Given the description of an element on the screen output the (x, y) to click on. 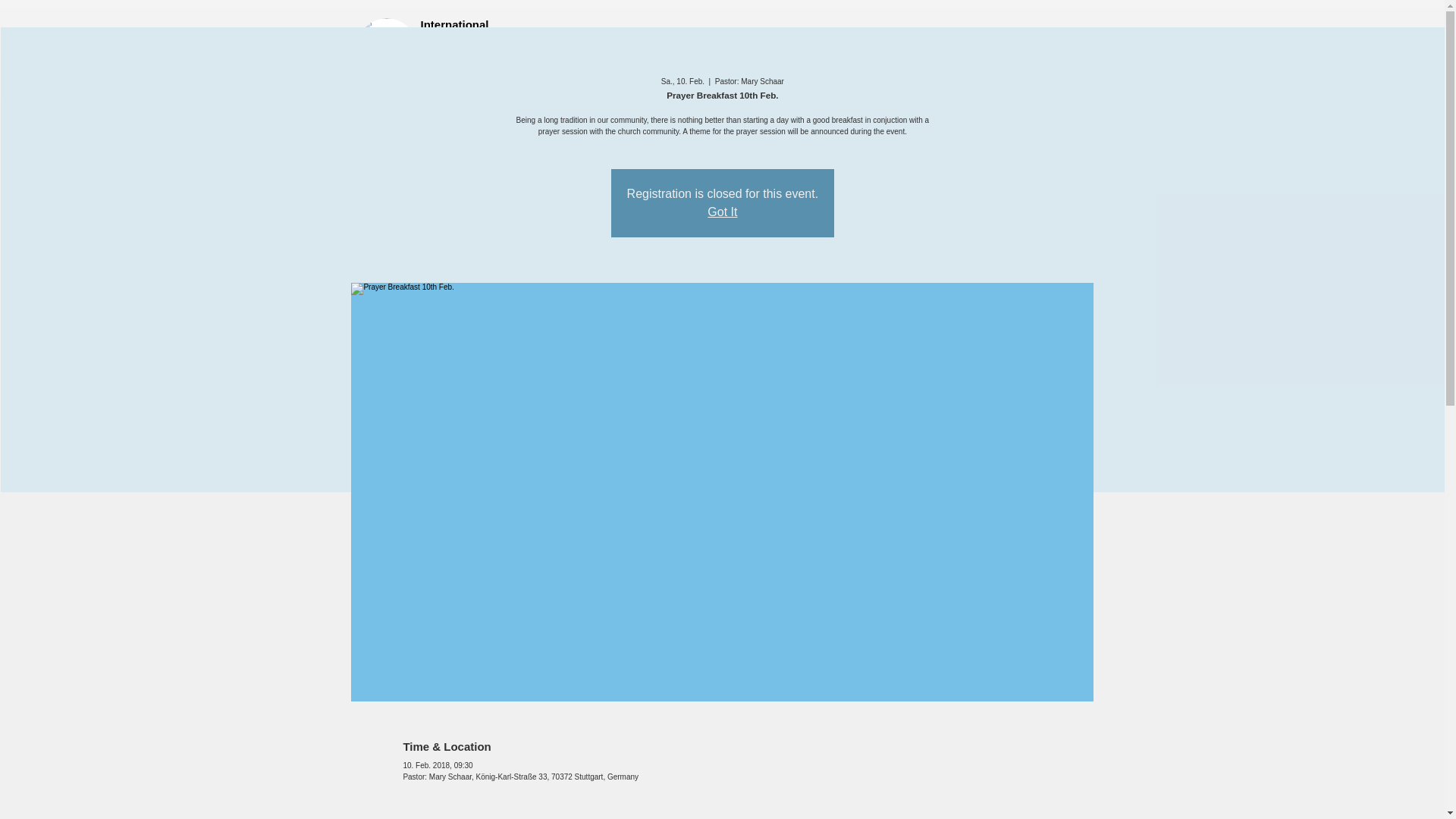
BOXES FOR BOSNIA (727, 39)
WORSHIP (836, 39)
EVENTS (984, 39)
Got It (721, 211)
DONATE (912, 39)
HOME (544, 39)
ABOUT US (617, 39)
CONTACT (1060, 39)
